Given the description of an element on the screen output the (x, y) to click on. 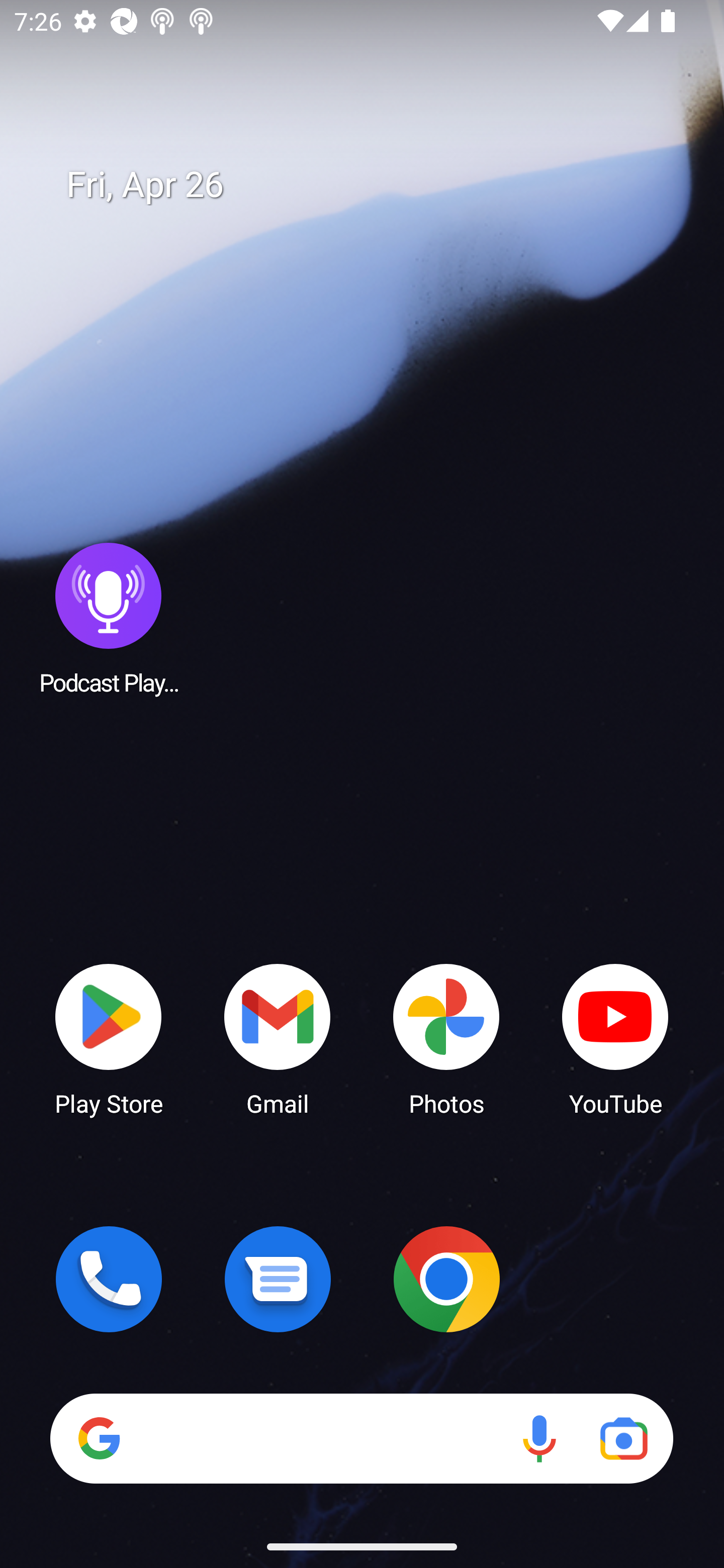
Fri, Apr 26 (375, 184)
Podcast Player (108, 617)
Play Store (108, 1038)
Gmail (277, 1038)
Photos (445, 1038)
YouTube (615, 1038)
Phone (108, 1279)
Messages (277, 1279)
Chrome (446, 1279)
Search Voice search Google Lens (361, 1438)
Voice search (539, 1438)
Google Lens (623, 1438)
